Given the description of an element on the screen output the (x, y) to click on. 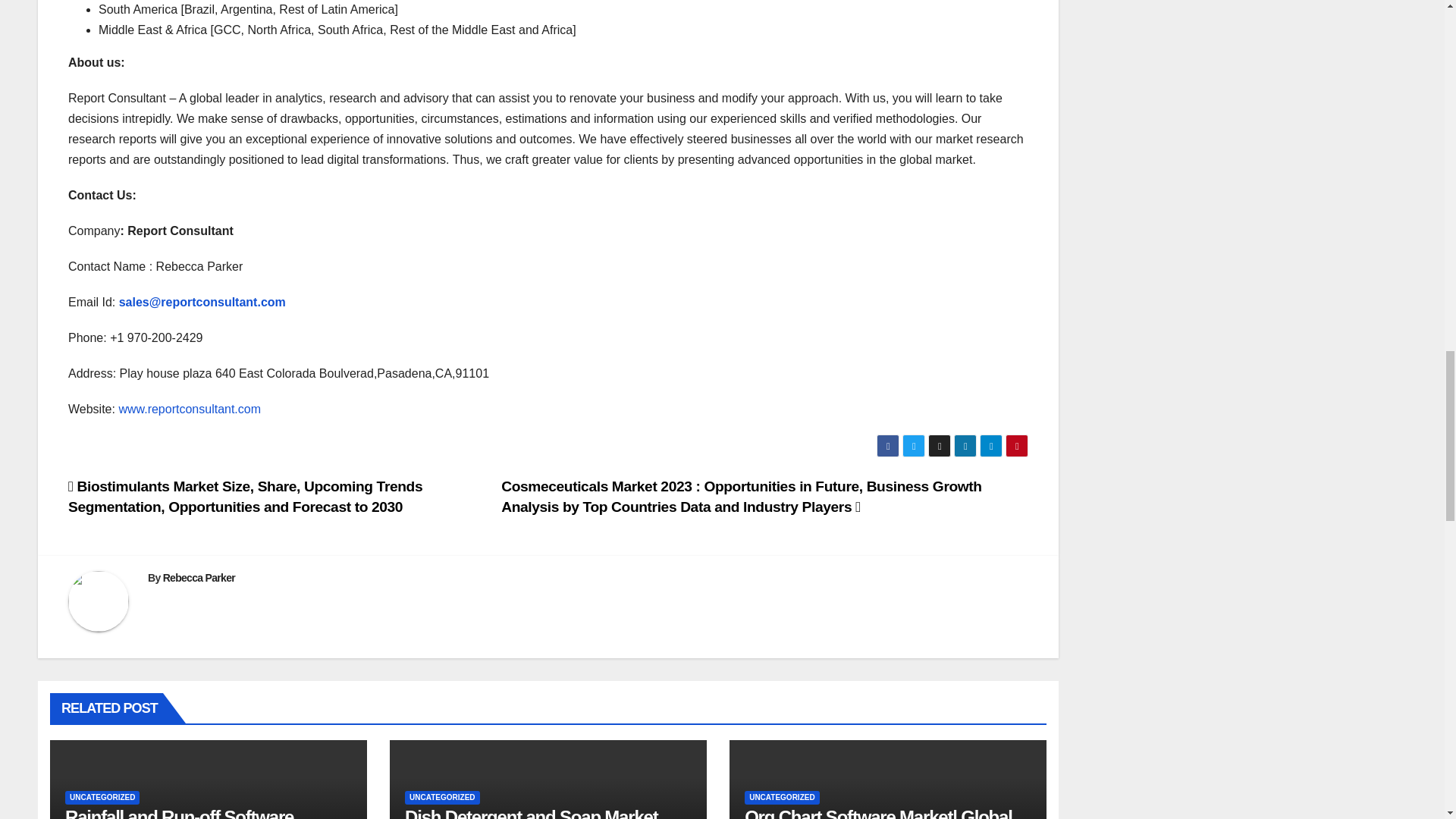
www.reportconsultant.com (188, 408)
Rebecca Parker (198, 577)
UNCATEGORIZED (102, 797)
